Given the description of an element on the screen output the (x, y) to click on. 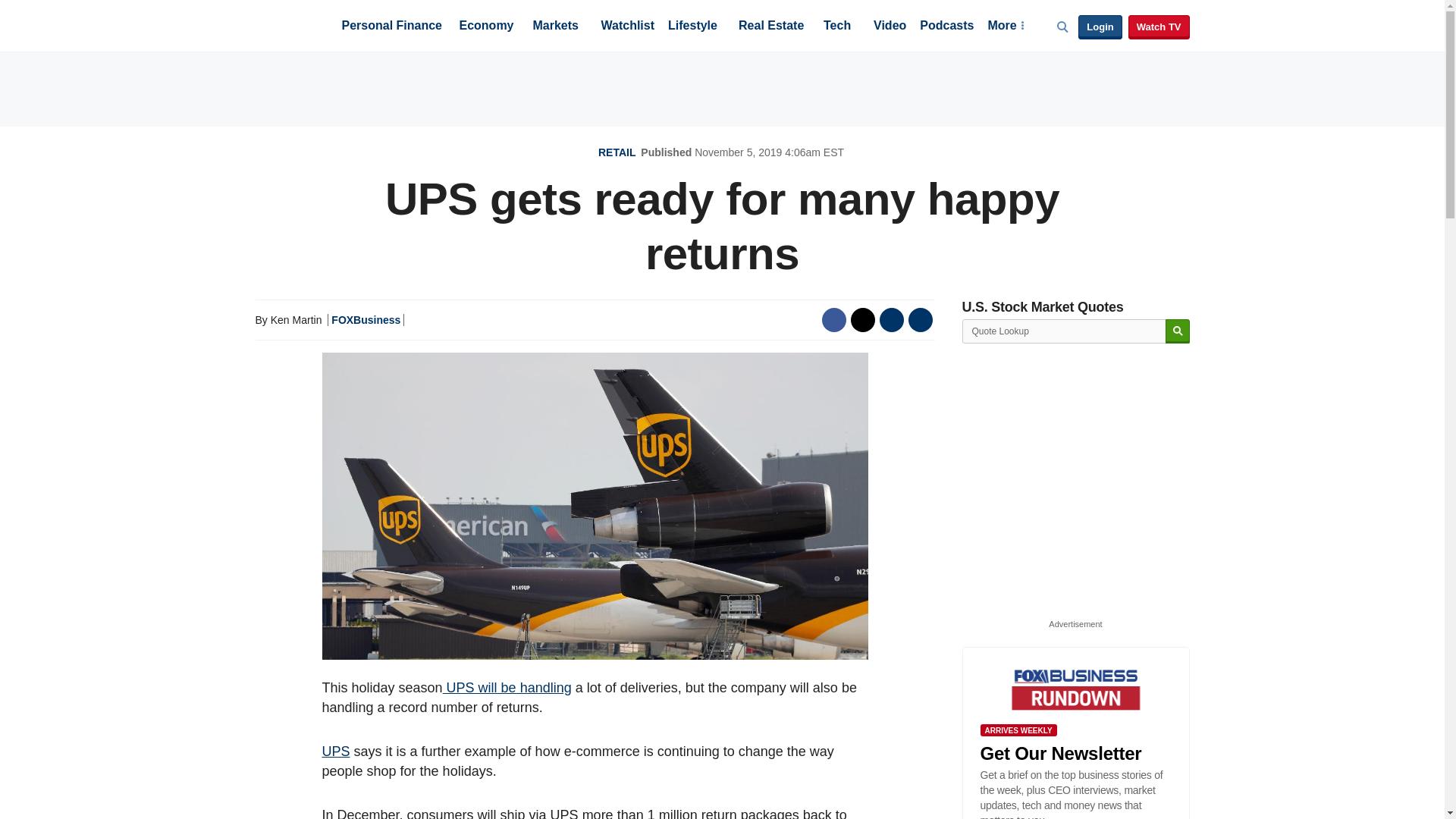
Search (1176, 331)
Personal Finance (391, 27)
Search (1176, 331)
Watch TV (1158, 27)
Real Estate (770, 27)
Podcasts (947, 27)
Markets (555, 27)
Watchlist (626, 27)
More (1005, 27)
Fox Business (290, 24)
